Given the description of an element on the screen output the (x, y) to click on. 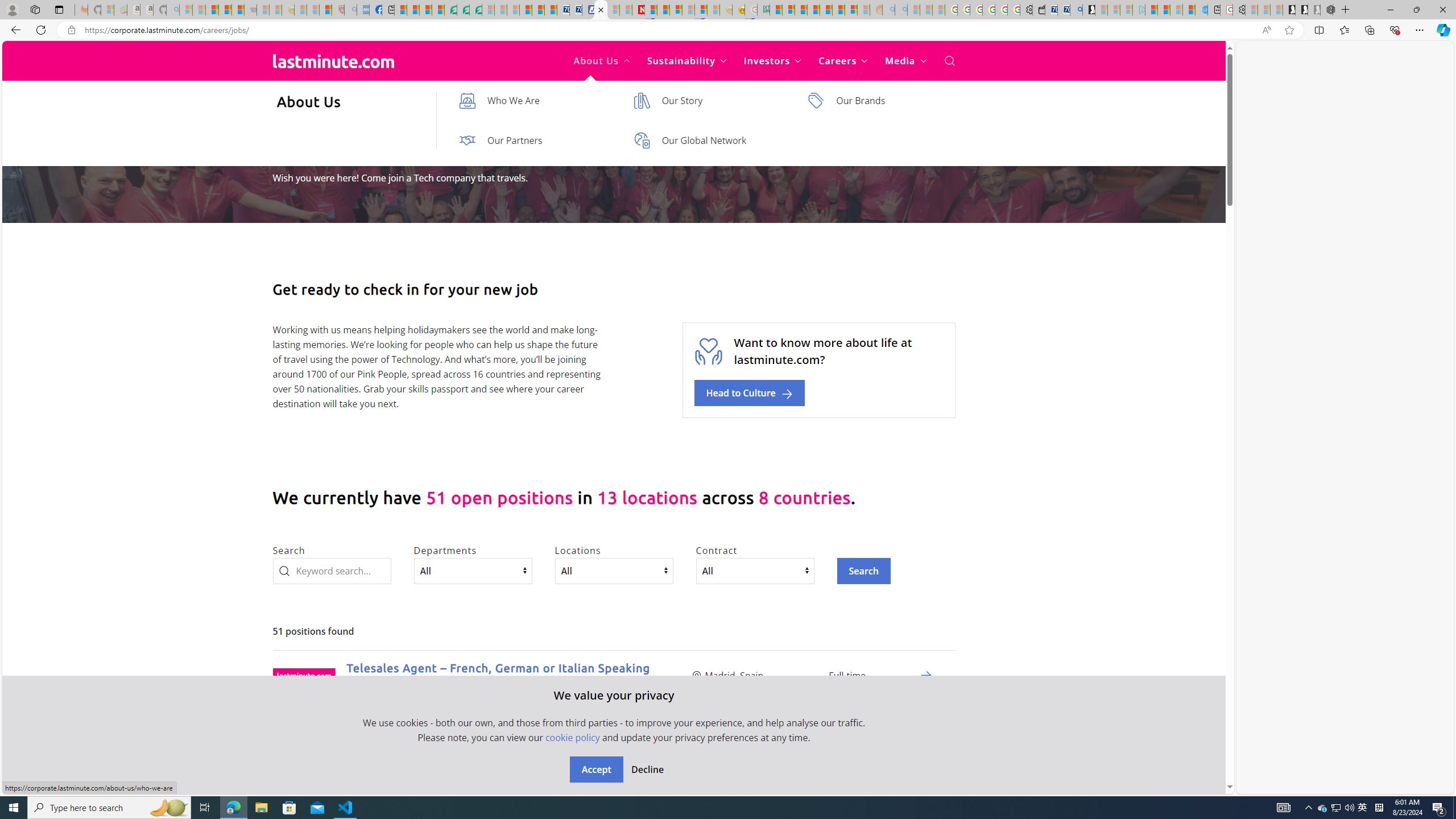
Class: uk-svg (333, 60)
Microsoft Word - consumer-privacy address update 2.2021 (475, 9)
Latest Politics News & Archive | Newsweek.com (638, 9)
Careers (842, 60)
Trusted Community Engagement and Contributions | Guidelines (650, 9)
DITOGAMES AG Imprint (763, 9)
